Given the description of an element on the screen output the (x, y) to click on. 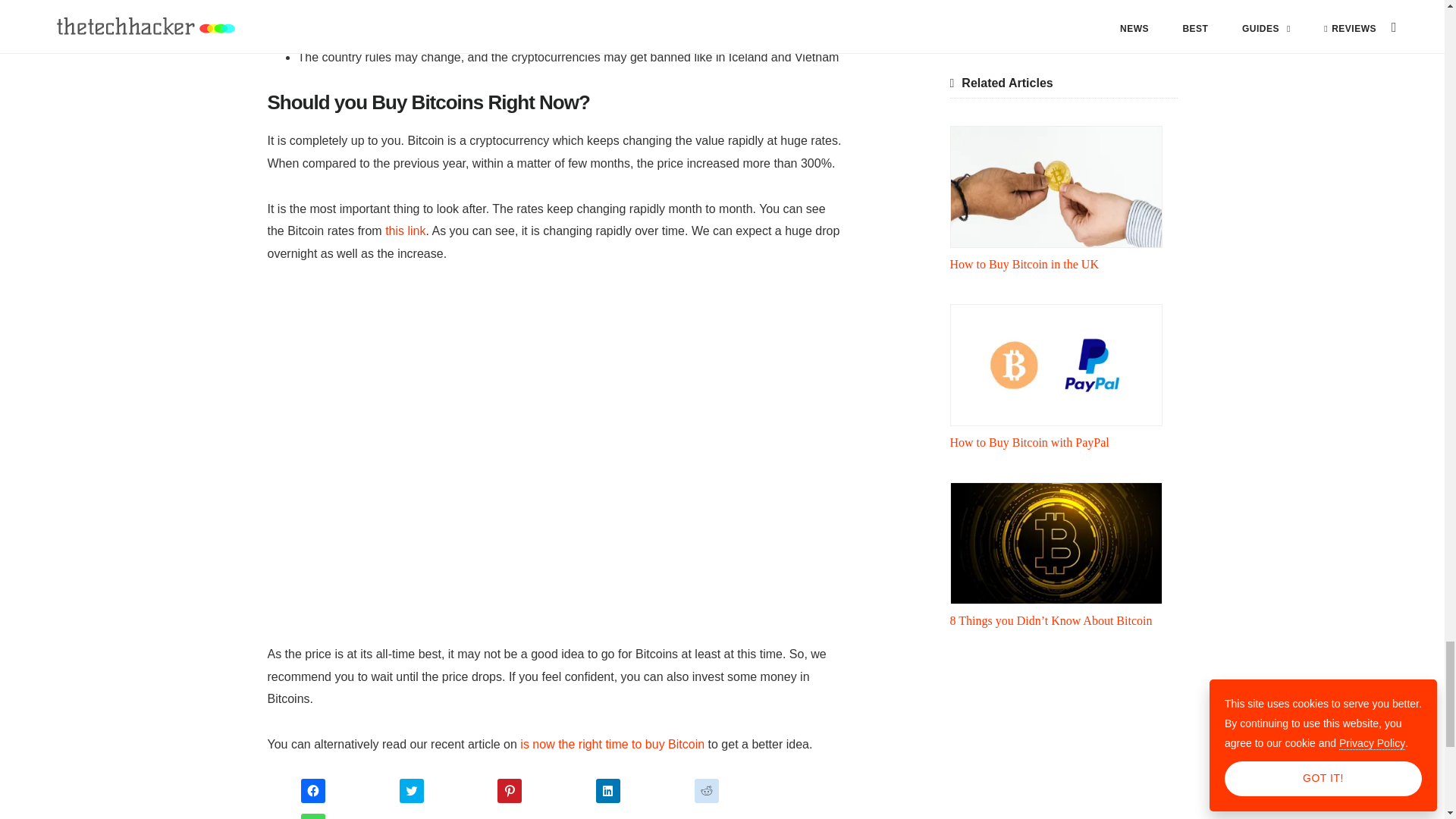
Click to share on Facebook (312, 790)
is now the right time to buy Bitcoin (611, 744)
Click to share on LinkedIn (607, 790)
Click to share on Twitter (410, 790)
Click to share on Pinterest (509, 790)
Click to share on Reddit (706, 790)
Click to share on WhatsApp (312, 816)
this link (405, 230)
